Given the description of an element on the screen output the (x, y) to click on. 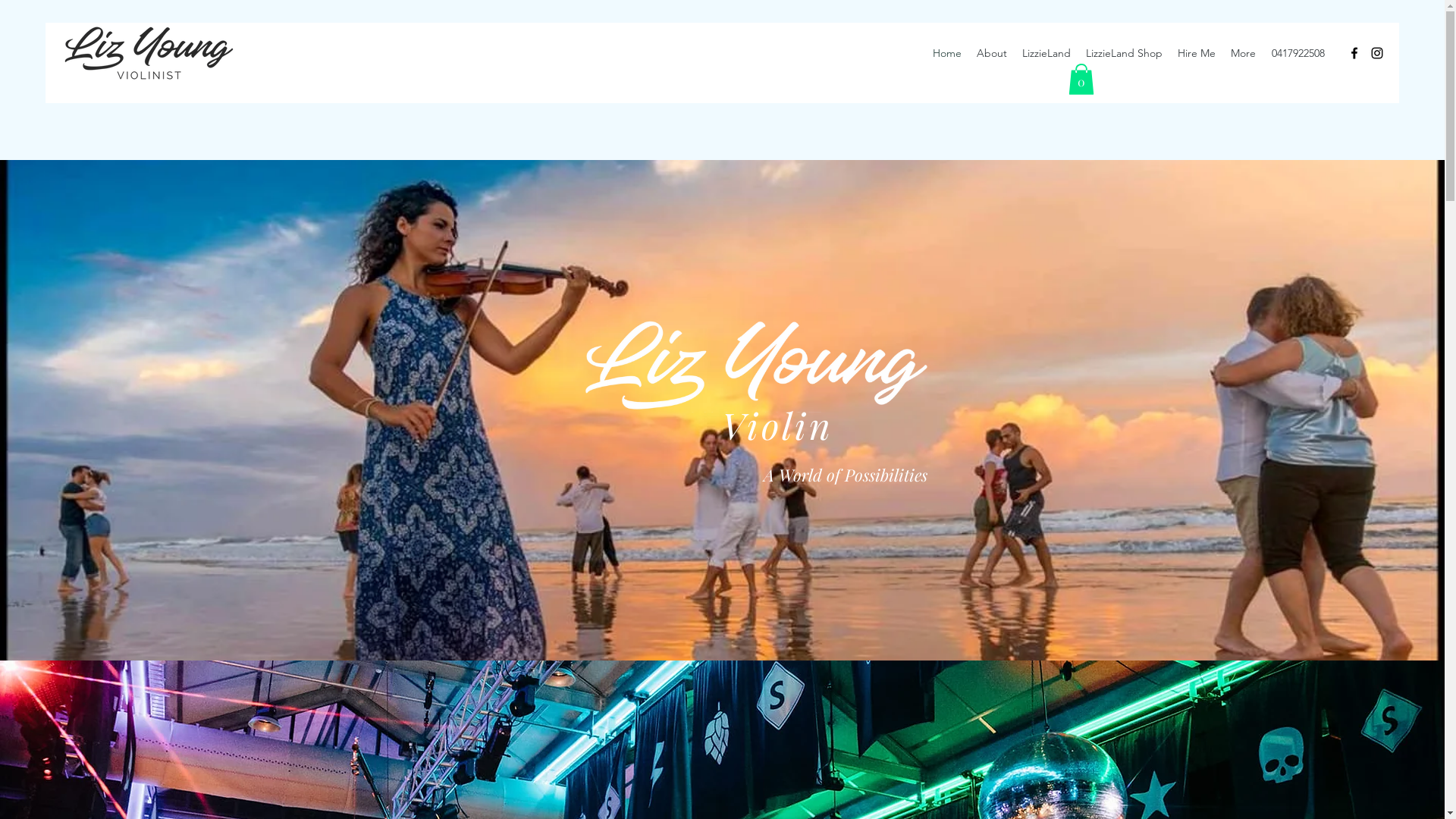
About Element type: text (991, 52)
LizzieLand Shop Element type: text (1124, 52)
Hire Me Element type: text (1196, 52)
0 Element type: text (1080, 78)
LizzieLand Element type: text (1046, 52)
Home Element type: text (947, 52)
